Given the description of an element on the screen output the (x, y) to click on. 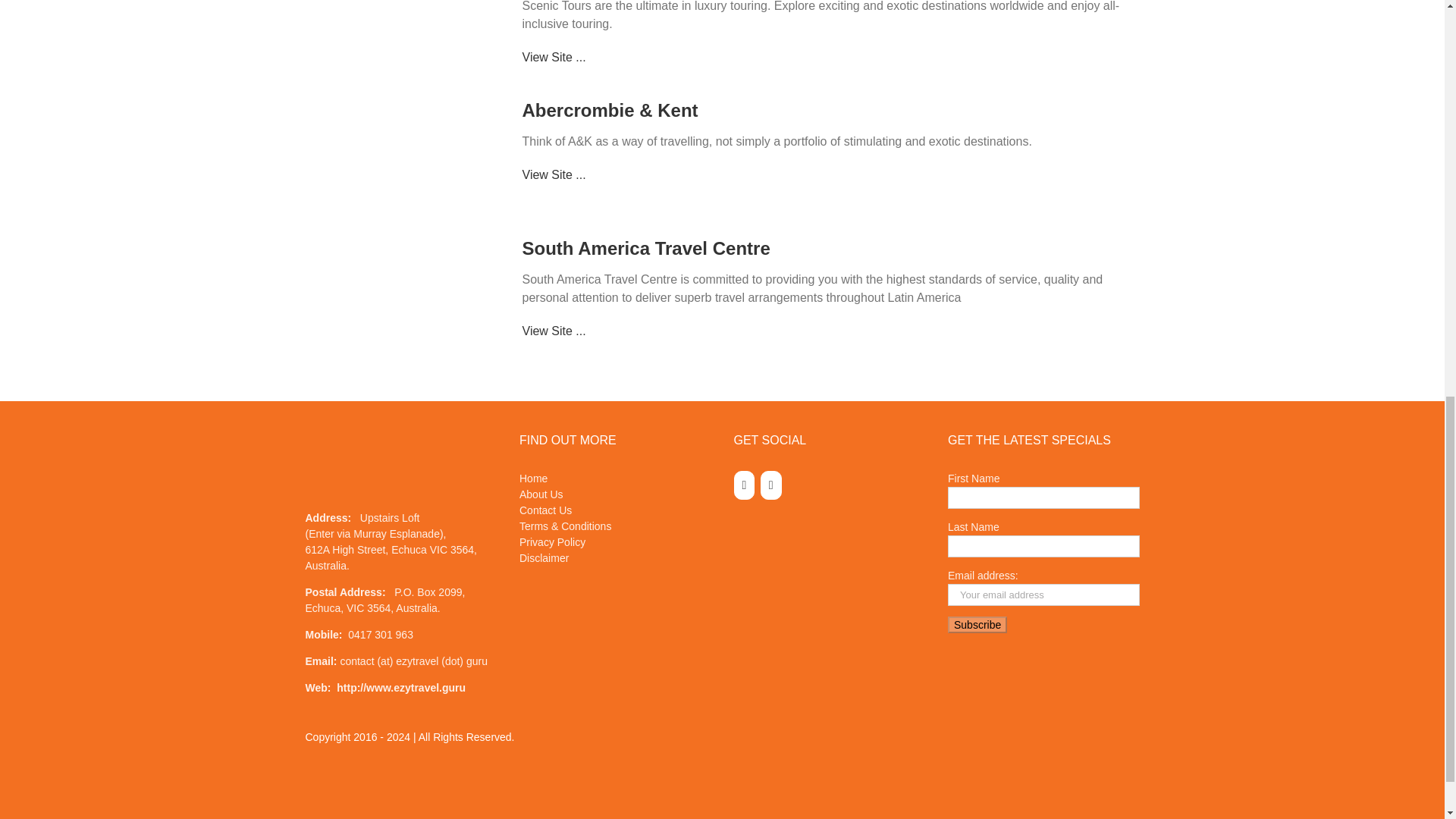
Subscribe (977, 624)
